Given the description of an element on the screen output the (x, y) to click on. 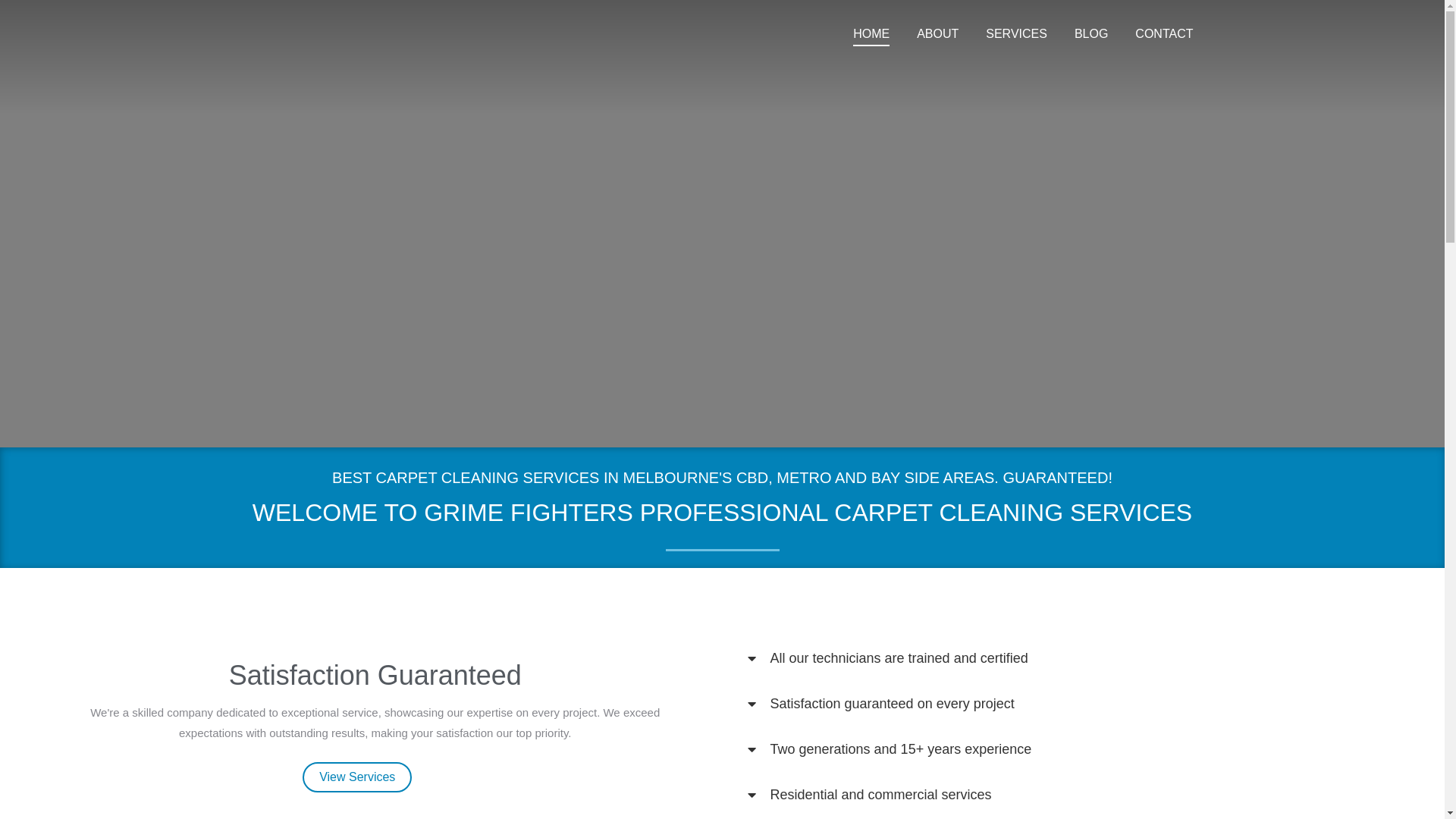
SERVICES Element type: text (1016, 33)
View Services Element type: text (356, 777)
CONTACT Element type: text (1163, 33)
Satisfaction Guaranteed Element type: text (375, 674)
All our technicians are trained and certified Element type: text (899, 658)
Satisfaction guaranteed on every project Element type: text (892, 703)
Residential and commercial services Element type: text (880, 794)
ABOUT Element type: text (937, 33)
Two generations and 15+ years experience Element type: text (901, 749)
HOME Element type: text (871, 33)
BLOG Element type: text (1090, 33)
